Given the description of an element on the screen output the (x, y) to click on. 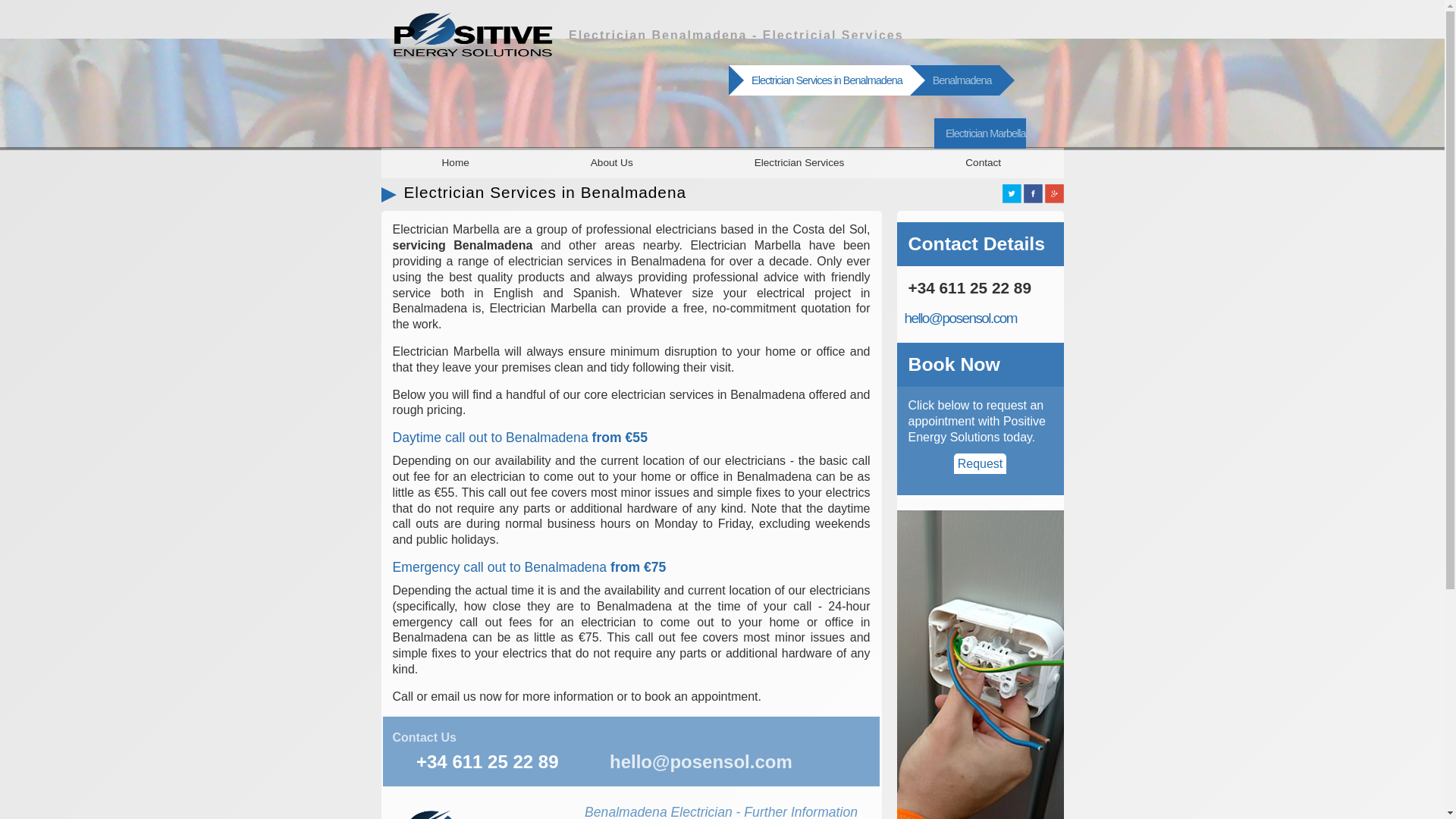
Positive Energy Solutions (980, 133)
About Electrician Marbella (611, 162)
Contact Us (425, 737)
Call Electrician in Benalmadena (487, 761)
Contact Electrician in Benalmadena (956, 80)
Contact electricians in Benalmadena (425, 737)
Electrician Marbella (454, 162)
Electrician Call out to Benalmadena (520, 437)
Emergency Electrician Call out to Benalmadena (529, 567)
Electrician Marbella (980, 133)
